Given the description of an element on the screen output the (x, y) to click on. 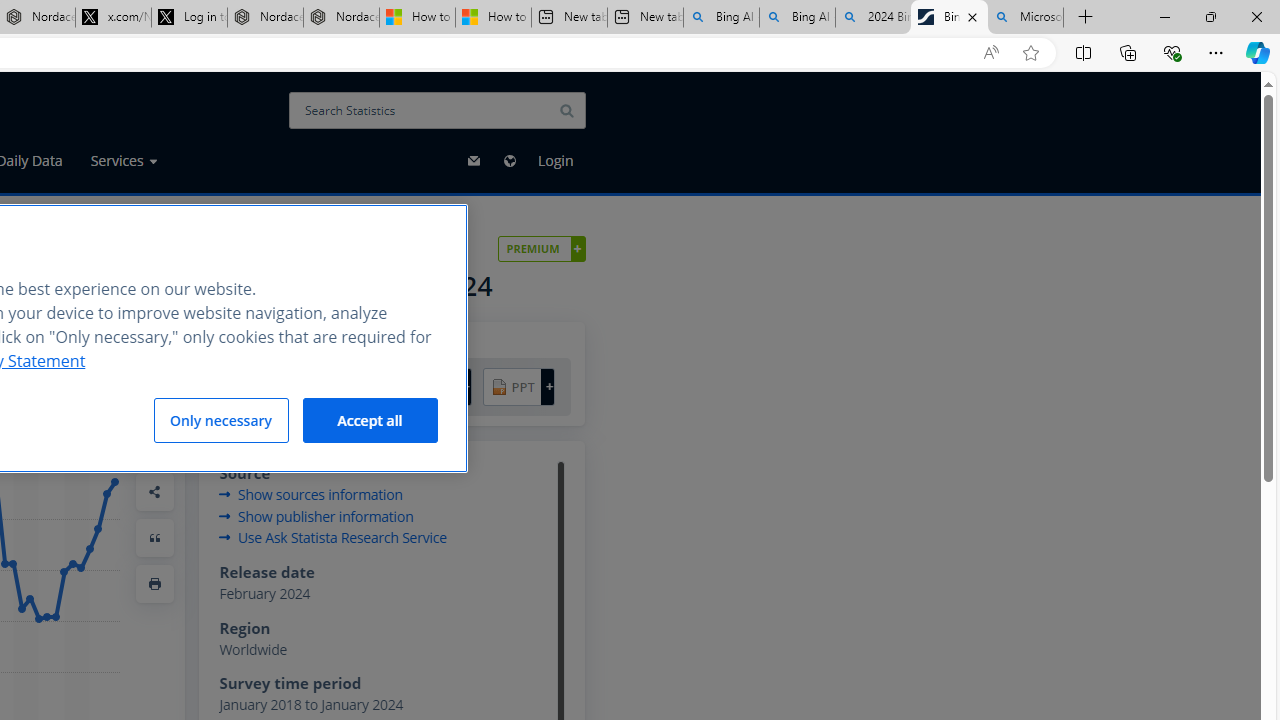
PNG + (435, 386)
Login (555, 161)
Add Favorite (155, 353)
 Show publisher information (315, 516)
 Use Ask Statista Research Service (332, 538)
Print (155, 583)
Bing search market share worldwide 2024 | Statista (948, 17)
Log in to X / X (189, 17)
Services (123, 160)
PDF + (265, 386)
